Given the description of an element on the screen output the (x, y) to click on. 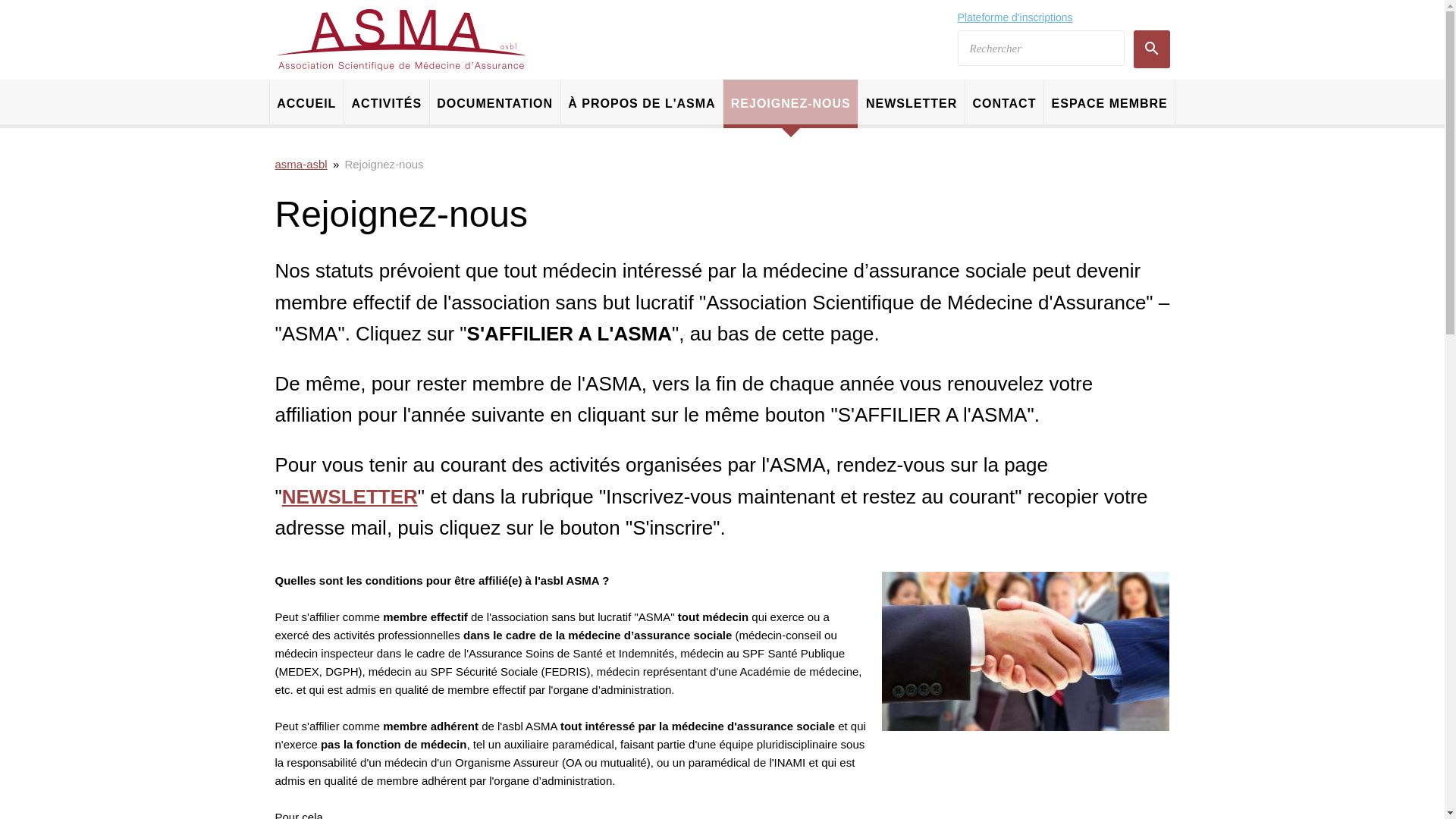
Rejoignez-nous Element type: text (383, 163)
ESPACE MEMBRE Element type: text (1109, 103)
REJOIGNEZ-NOUS Element type: text (790, 103)
asma-asbl Element type: text (300, 163)
asma-asbl Element type: hover (399, 39)
CHERCHER Element type: text (1150, 49)
NEWSLETTER Element type: text (910, 103)
CONTACT Element type: text (1004, 103)
ACCUEIL Element type: text (306, 103)
NEWSLETTER Element type: text (349, 496)
Plateforme d'inscriptions Element type: text (1014, 17)
DOCUMENTATION Element type: text (494, 103)
